Given the description of an element on the screen output the (x, y) to click on. 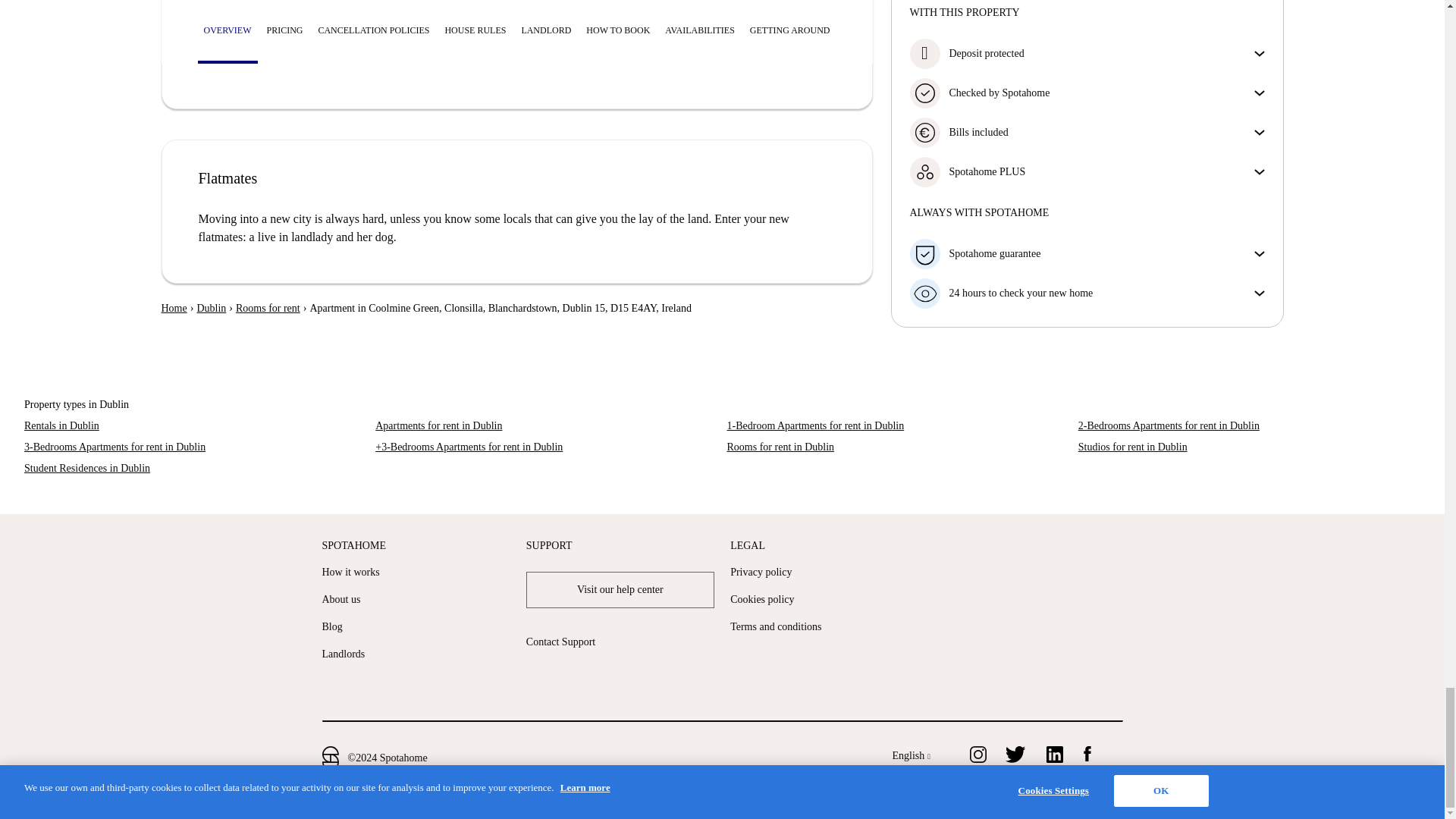
Rooms for rent (267, 307)
3-Bedrooms Apartments for rent in Dublin (195, 447)
Dublin (210, 307)
Studios for rent in Dublin (1249, 447)
About us (340, 599)
2-Bedrooms Apartments for rent in Dublin (1249, 426)
Blog (331, 626)
Apartments for rent in Dublin (546, 426)
How it works (349, 572)
Rentals in Dublin (195, 426)
